Given the description of an element on the screen output the (x, y) to click on. 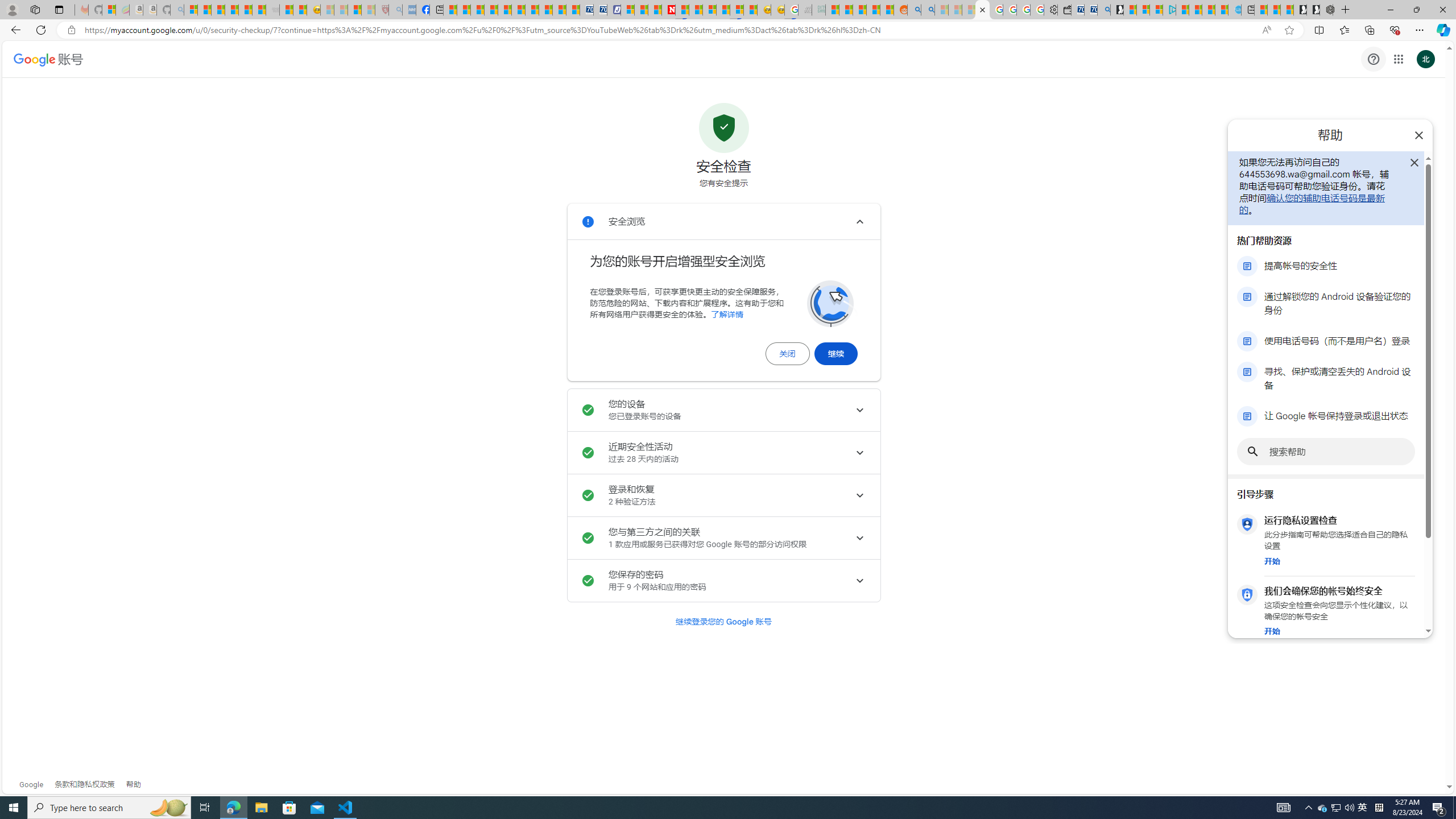
Wallet (1063, 9)
Play Free Online Games | Games from Microsoft Start (1312, 9)
Utah sues federal government - Search (927, 9)
14 Common Myths Debunked By Scientific Facts (695, 9)
